Given the description of an element on the screen output the (x, y) to click on. 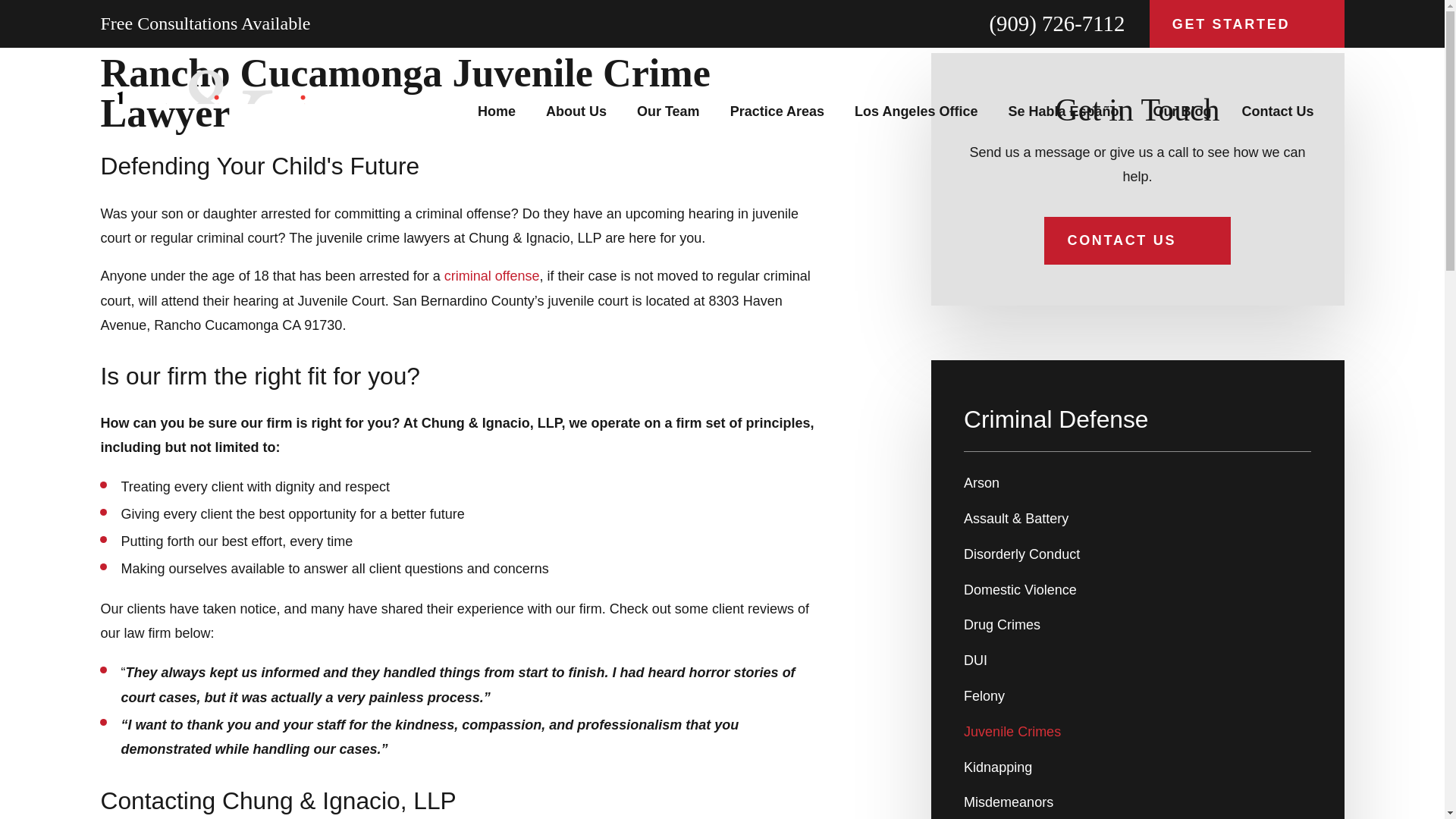
Our Team (668, 111)
Practice Areas (777, 111)
About Us (576, 111)
GET STARTED (1246, 23)
Home (496, 111)
Home (213, 111)
Los Angeles Office (915, 111)
